Given the description of an element on the screen output the (x, y) to click on. 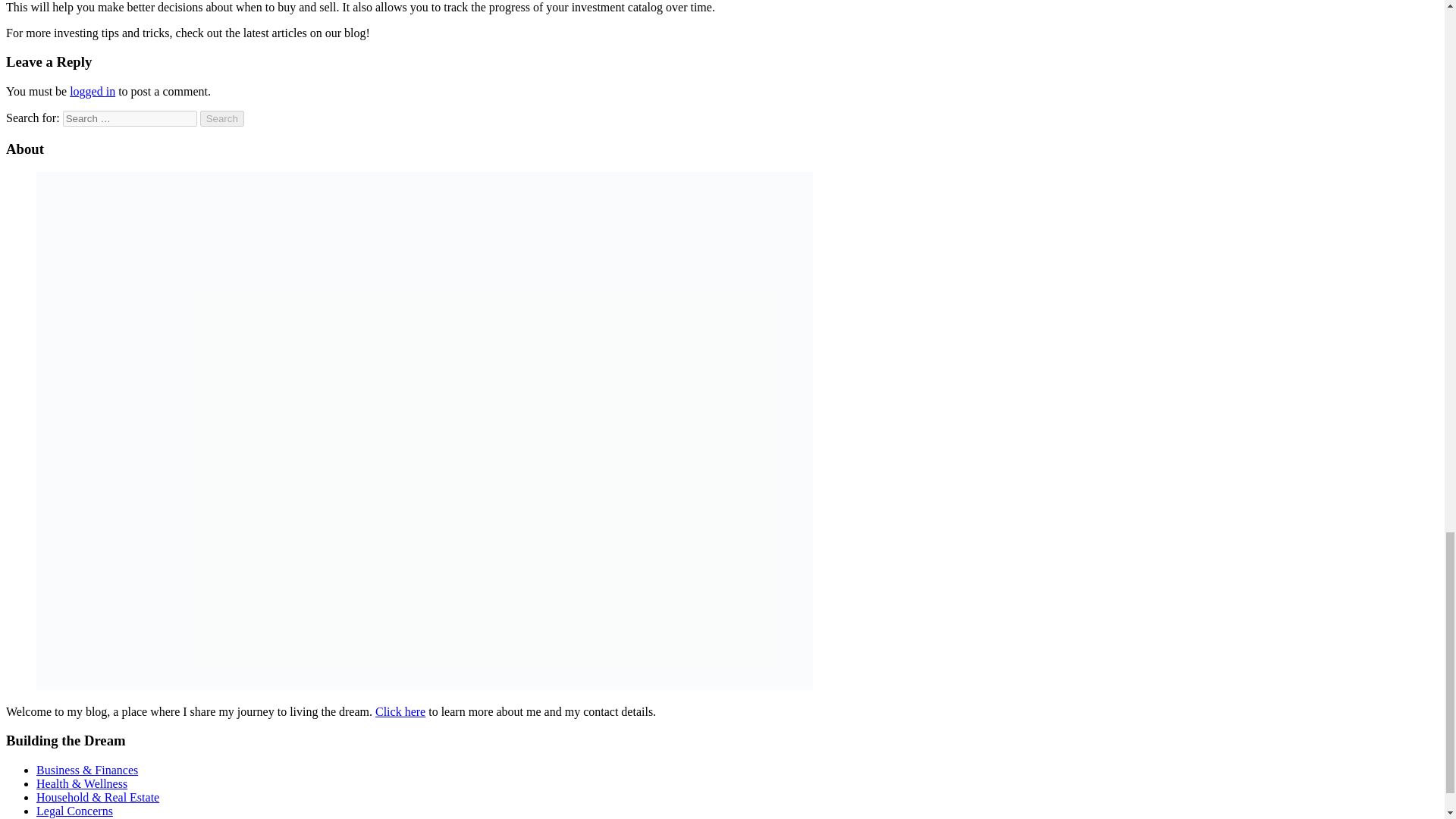
Search (222, 118)
Click here (400, 711)
logged in (92, 91)
Search (222, 118)
Legal Concerns (74, 810)
Search (222, 118)
